Given the description of an element on the screen output the (x, y) to click on. 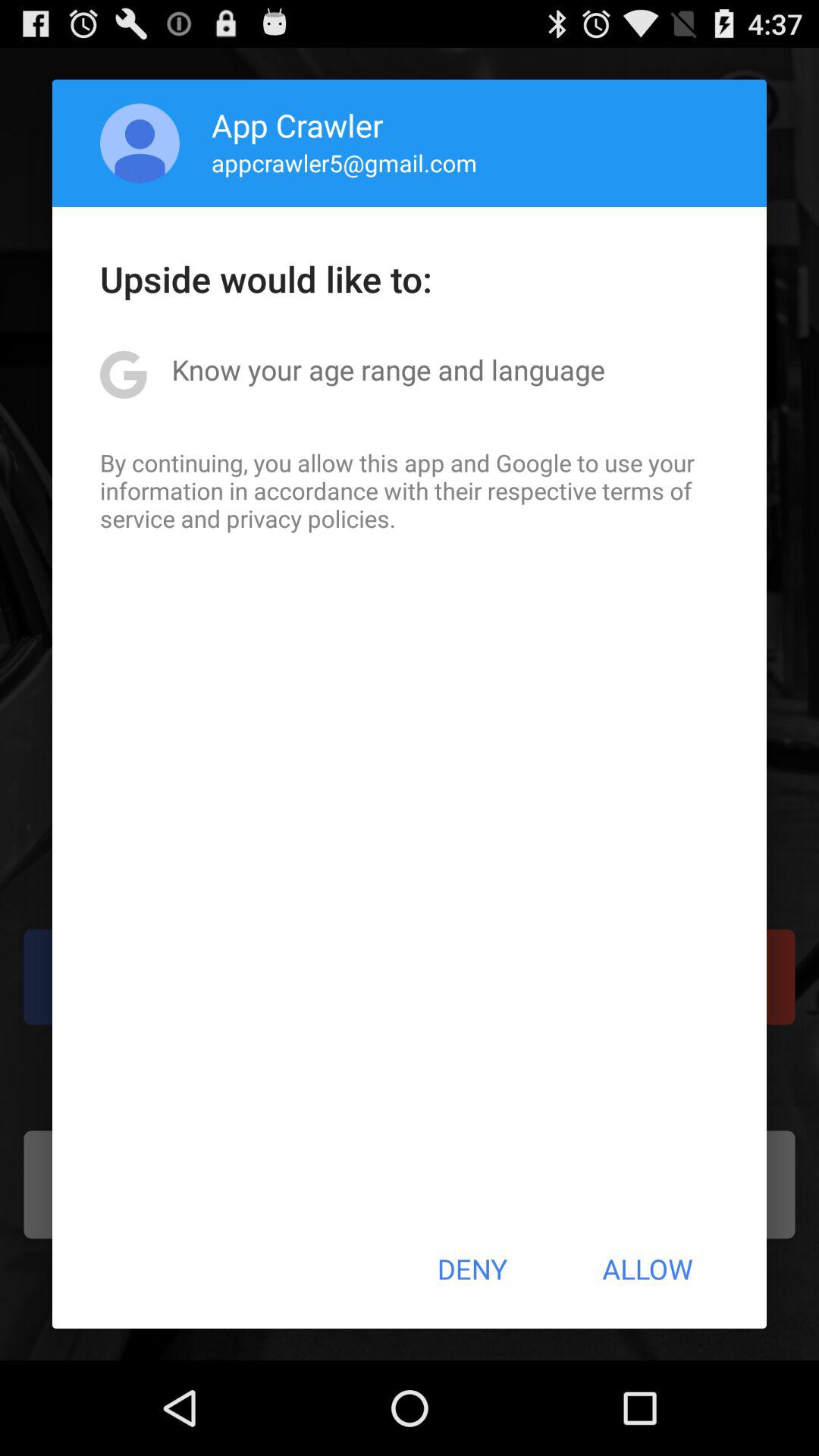
tap item below the app crawler icon (344, 162)
